Given the description of an element on the screen output the (x, y) to click on. 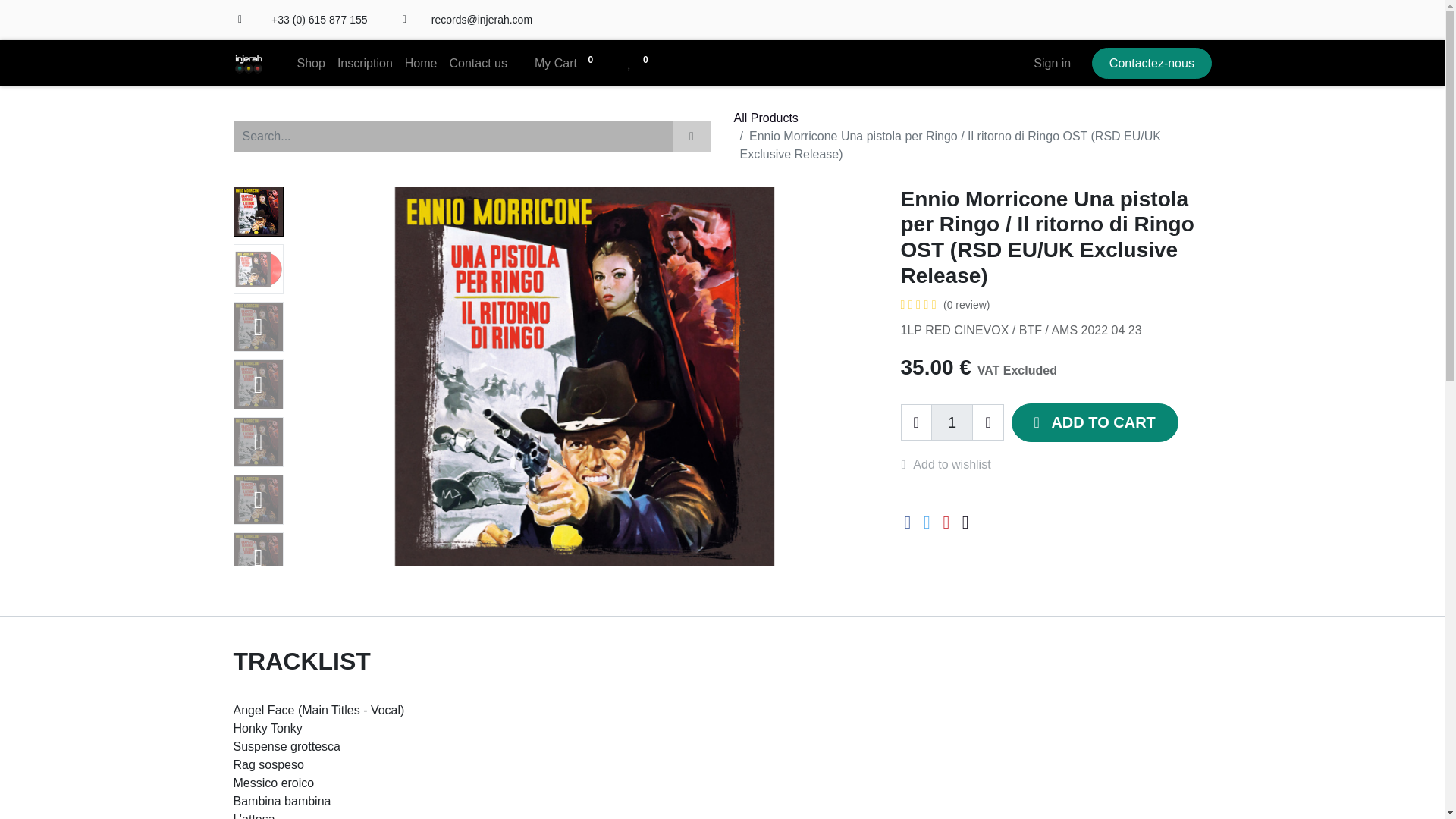
Inscription (364, 63)
All Products (765, 117)
0 (641, 63)
Shop (311, 63)
INJERAH (247, 63)
Home (421, 63)
Search (690, 136)
1 (952, 422)
Add to wishlist (954, 464)
ADD TO CART (1094, 422)
Contact us (477, 63)
Contactez-nous (1151, 62)
Add to wishlist (954, 464)
My Cart 0 (567, 63)
Sign in (1052, 63)
